Given the description of an element on the screen output the (x, y) to click on. 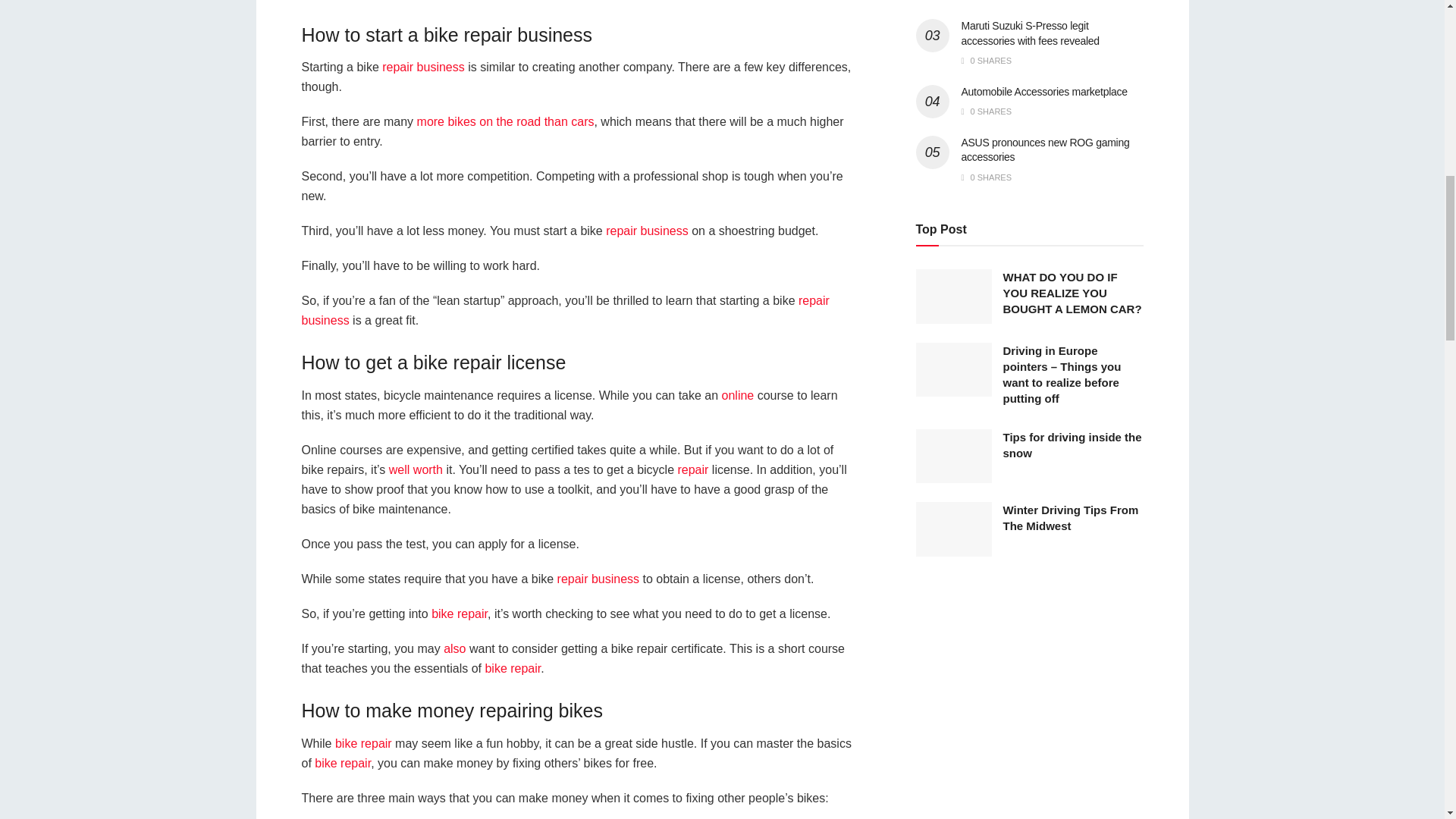
Apply for Auto Loans Online with These 5 Steps (738, 395)
